Given the description of an element on the screen output the (x, y) to click on. 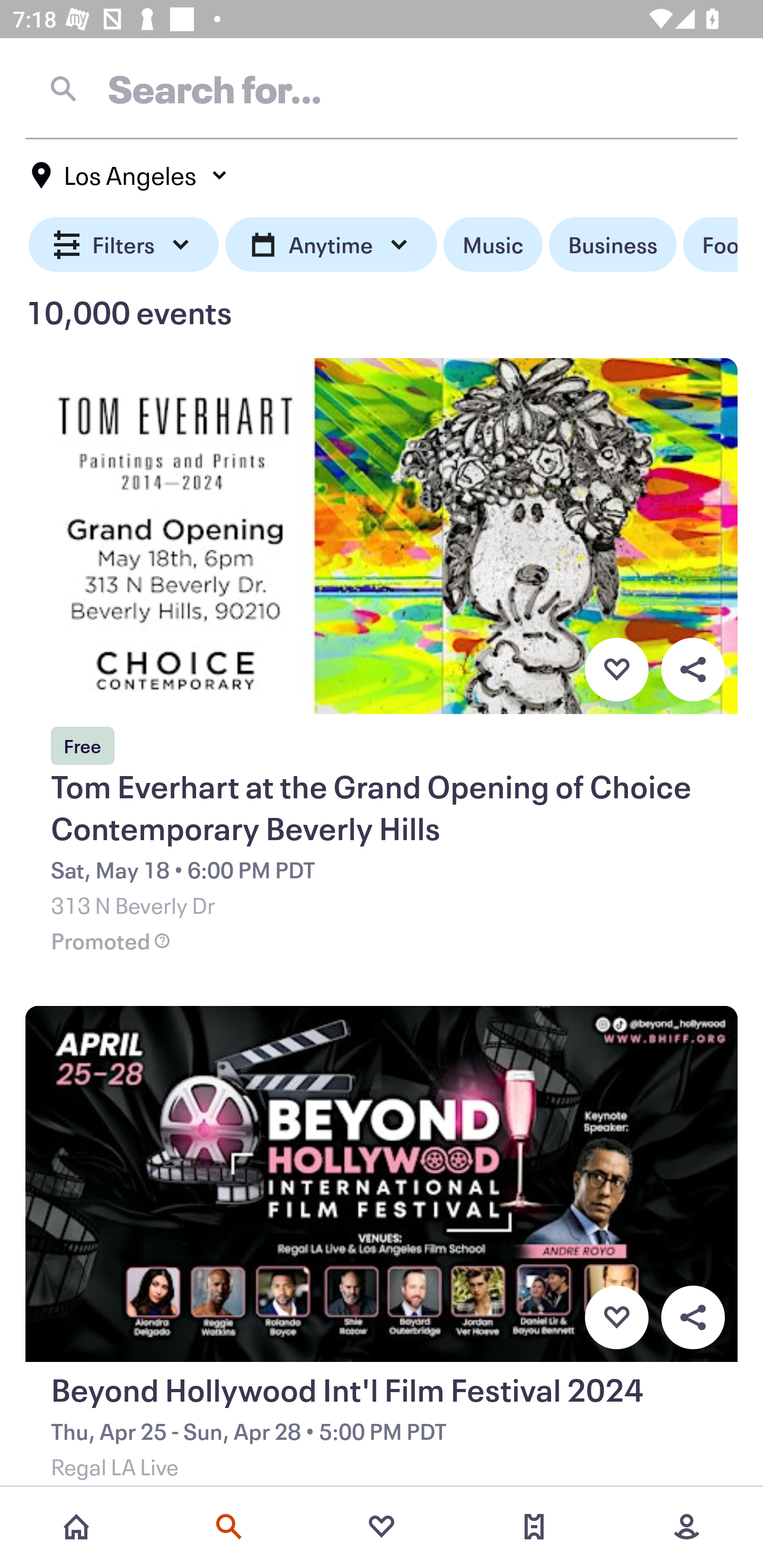
Search for… (381, 88)
Los Angeles (130, 175)
Filters (123, 244)
Anytime (331, 244)
Music (492, 244)
Business (612, 244)
Favorite button (616, 669)
Overflow menu button (692, 669)
Favorite button (616, 1317)
Overflow menu button (692, 1317)
Home (76, 1526)
Search events (228, 1526)
Favorites (381, 1526)
Tickets (533, 1526)
More (686, 1526)
